Given the description of an element on the screen output the (x, y) to click on. 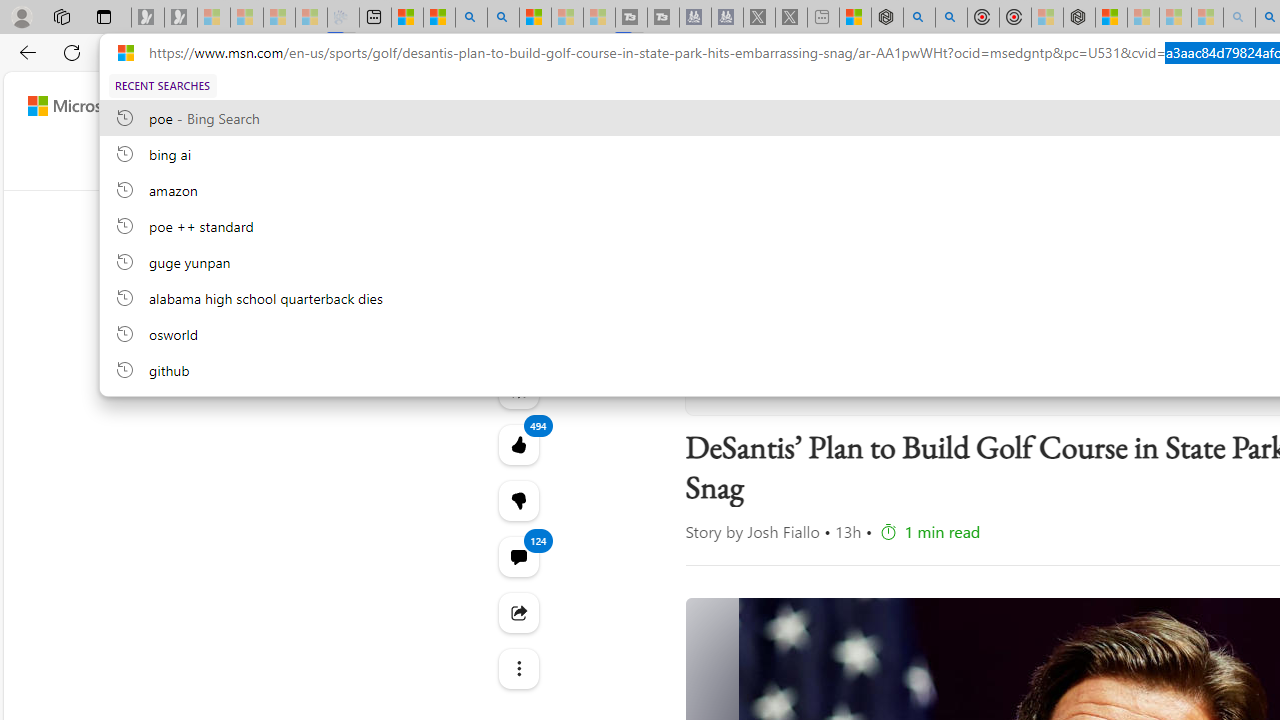
Tennis (1172, 162)
MLB (976, 162)
Microsoft Start - Sleeping (566, 17)
NFL (800, 162)
Open navigation menu (506, 162)
NBA (858, 162)
Listen to this article (517, 388)
